Given the description of an element on the screen output the (x, y) to click on. 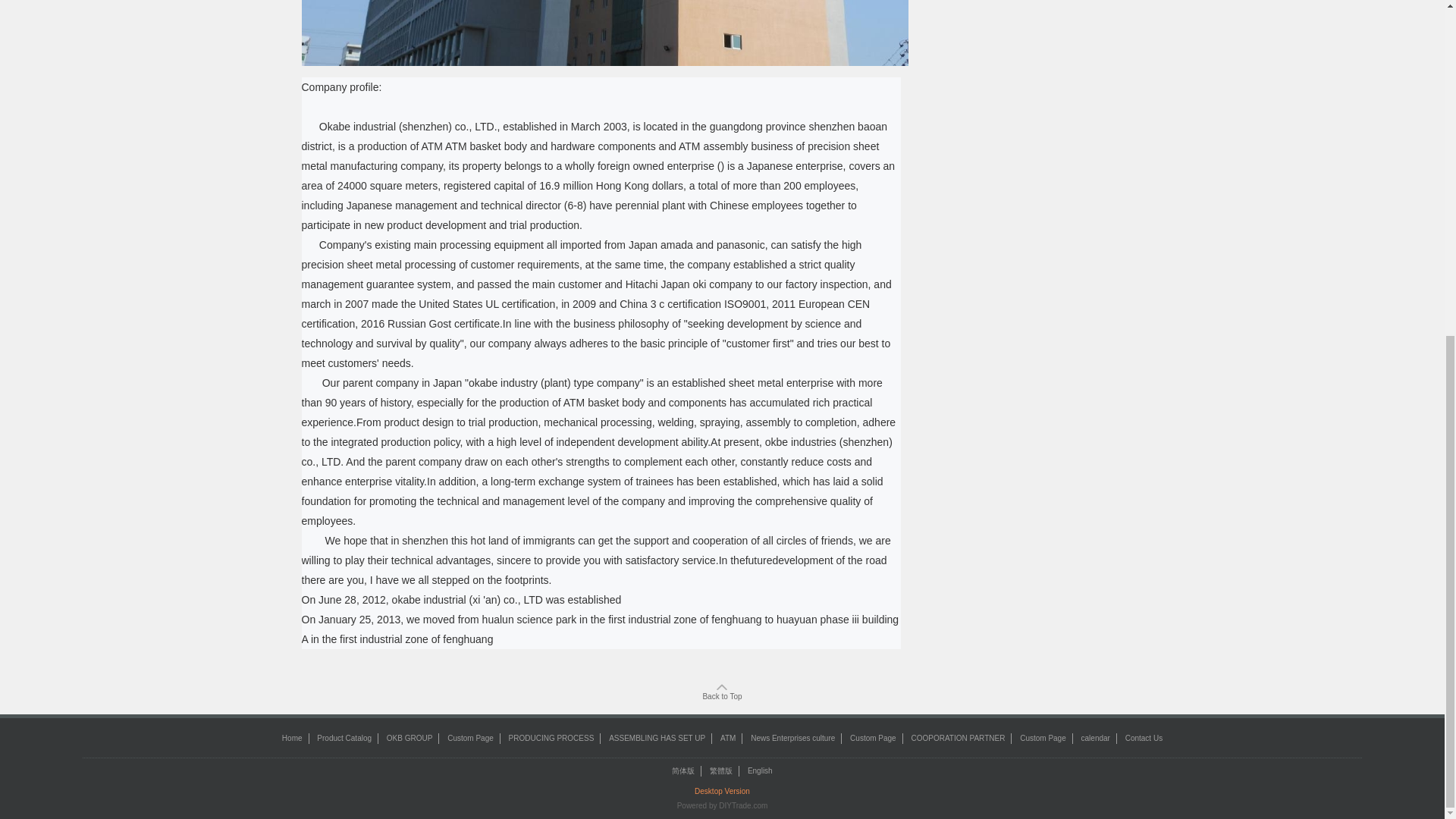
ASSEMBLING HAS SET UP (656, 737)
OKB GROUP (409, 737)
Home (292, 737)
Contact Us (1143, 737)
Custom Page (873, 737)
PRODUCING PROCESS (551, 737)
PRODUCING PROCESS (551, 737)
ATM (727, 737)
Custom Page (1042, 737)
Back to Top (721, 692)
